Given the description of an element on the screen output the (x, y) to click on. 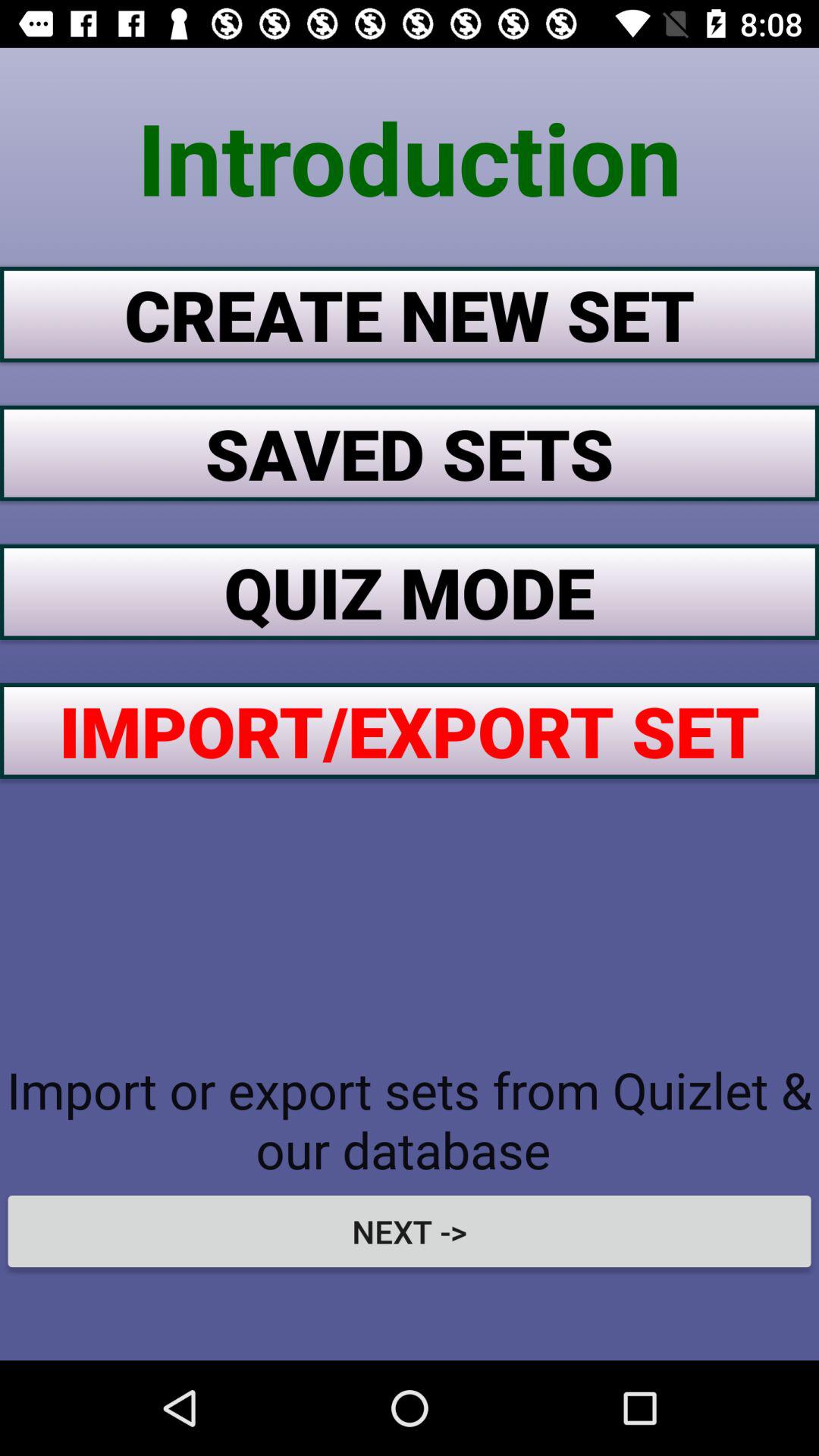
turn on the next -> button (409, 1231)
